Given the description of an element on the screen output the (x, y) to click on. 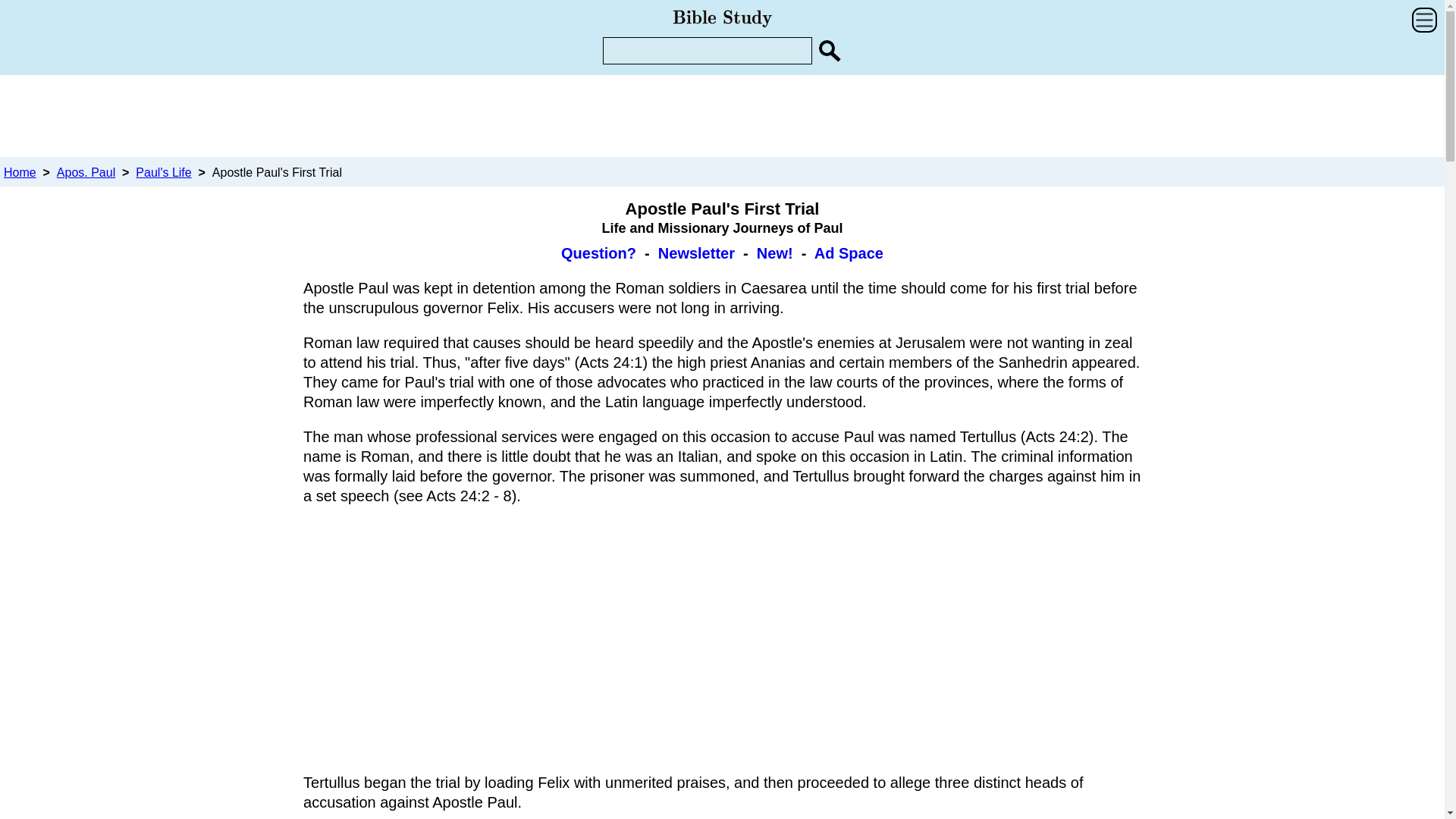
Home (20, 172)
Newsletter (696, 252)
Advertisement (721, 639)
Question? (598, 252)
Paul's Life (162, 172)
Apos. Paul (85, 172)
Ad Space (848, 252)
Advertisement (721, 115)
New! (775, 252)
